Given the description of an element on the screen output the (x, y) to click on. 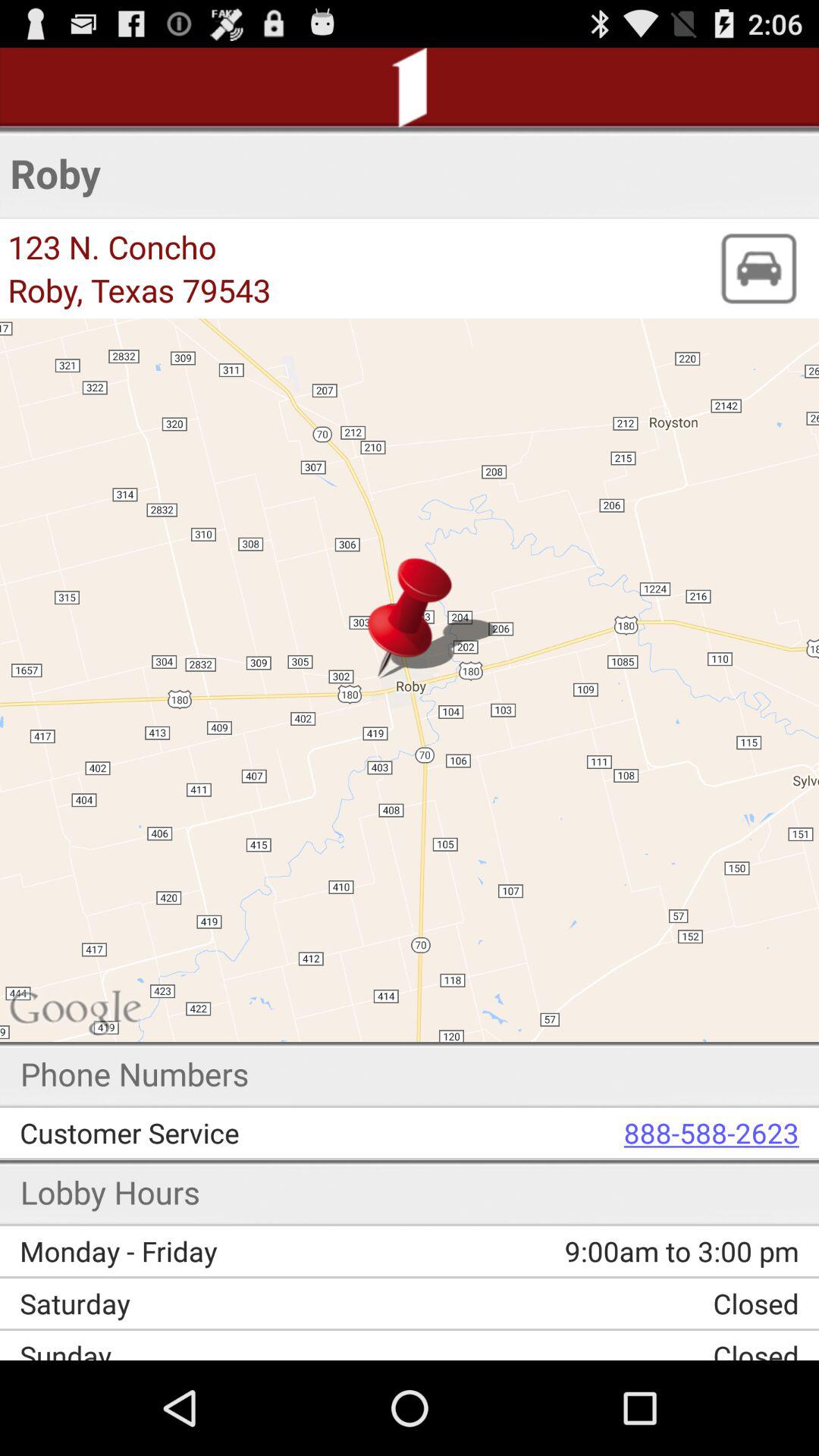
turn off the phone numbers item (134, 1073)
